Given the description of an element on the screen output the (x, y) to click on. 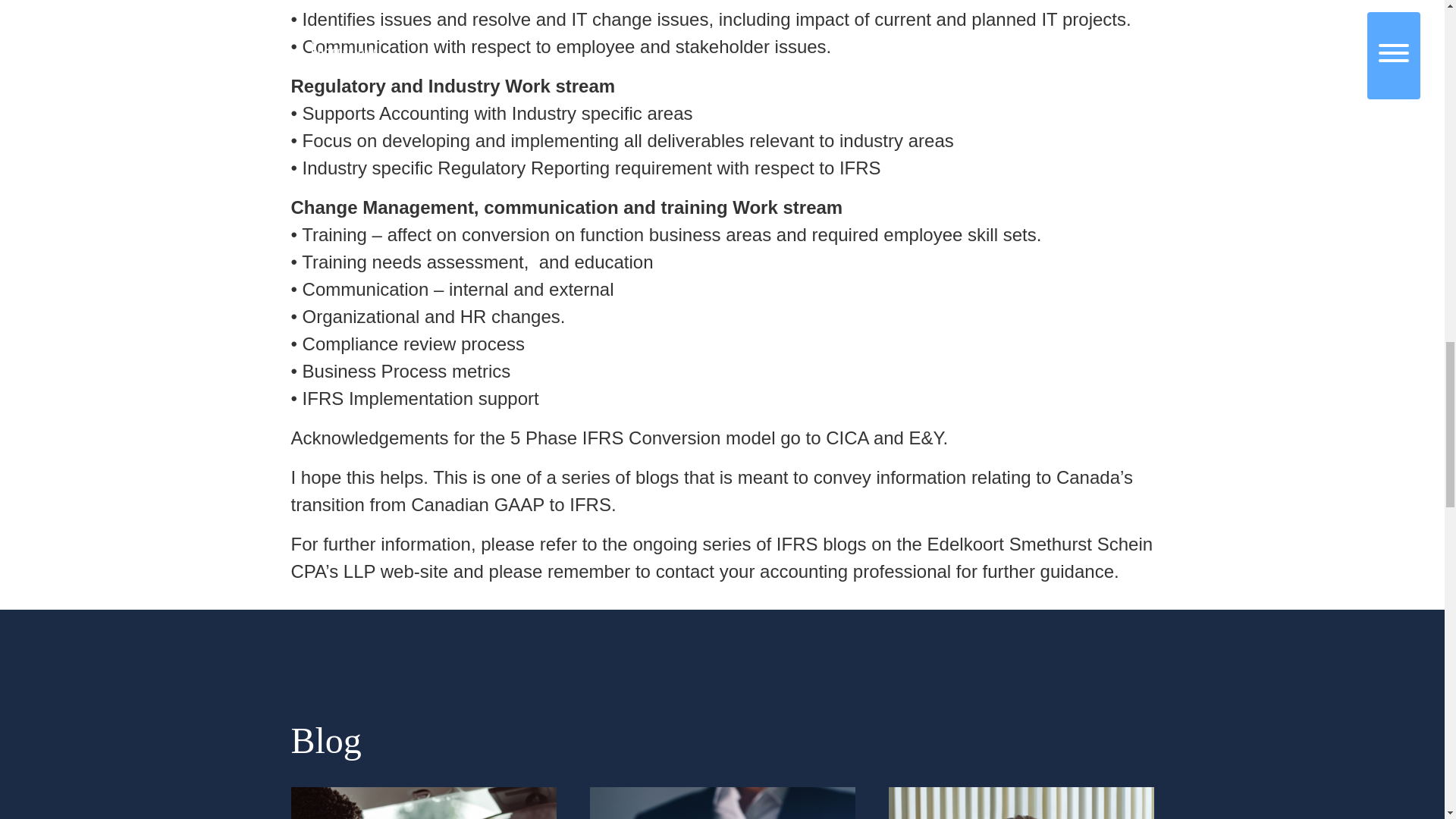
Blog (326, 740)
